Given the description of an element on the screen output the (x, y) to click on. 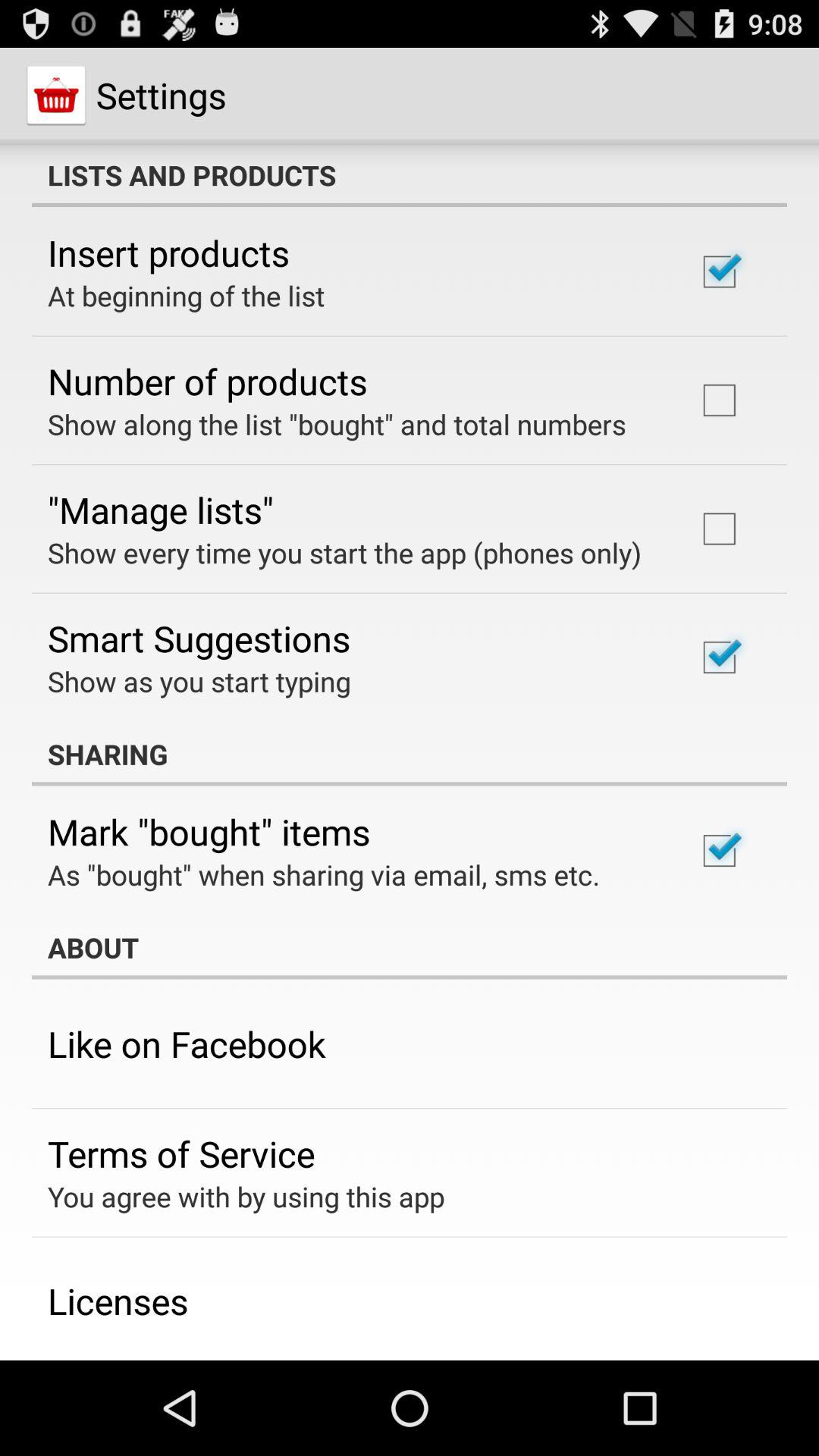
turn off icon below terms of service (245, 1196)
